Given the description of an element on the screen output the (x, y) to click on. 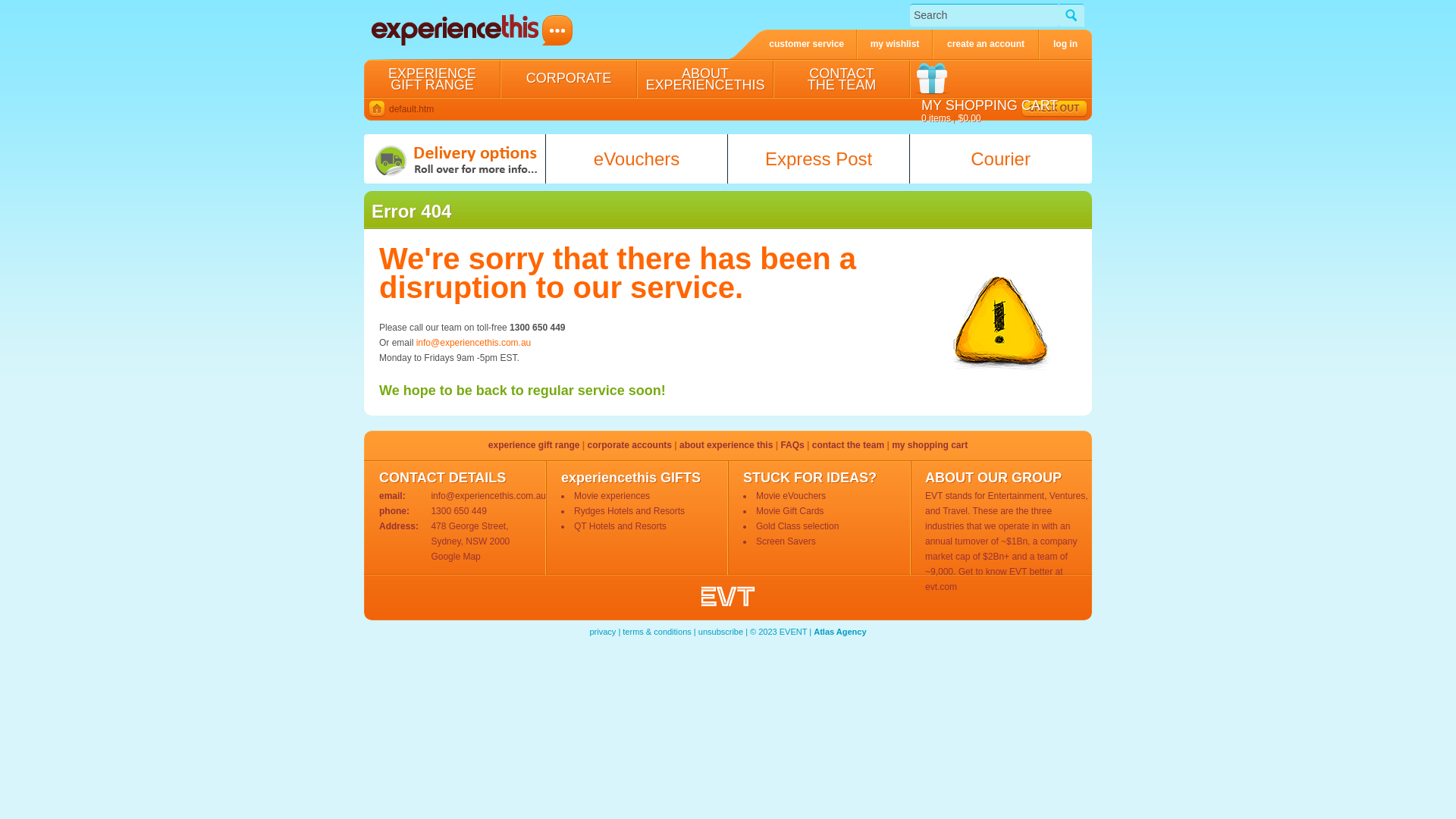
customer service Element type: text (792, 44)
Gold Class selection Element type: text (797, 525)
Movie experiences Element type: text (611, 495)
corporate accounts Element type: text (630, 444)
contact the team Element type: text (849, 444)
terms & conditions Element type: text (656, 631)
EXPERIENCE
GIFT RANGE Element type: text (432, 78)
Express Post Element type: text (818, 158)
evt.com Element type: text (941, 586)
about experience this Element type: text (727, 444)
create an account Element type: text (985, 44)
info@experiencethis.com.au Element type: text (488, 495)
privacy Element type: text (602, 631)
Atlas Agency Element type: text (839, 631)
Rydges Hotels and Resorts Element type: text (629, 510)
CORPORATE Element type: text (568, 78)
eVouchers Element type: text (636, 158)
ABOUT
EXPERIENCETHIS Element type: text (705, 78)
Google Map Element type: text (455, 556)
unsubscribe Element type: text (720, 631)
CONTACT
THE TEAM Element type: text (841, 78)
my shopping cart Element type: text (929, 444)
experience gift range Element type: text (535, 444)
Screen Savers Element type: text (785, 541)
FAQs Element type: text (793, 444)
my wishlist Element type: text (894, 44)
Movie eVouchers Element type: text (790, 495)
log in Element type: text (1065, 44)
Movie Gift Cards Element type: text (789, 510)
QT Hotels and Resorts Element type: text (620, 525)
info@experiencethis.com.au Element type: text (473, 342)
